Given the description of an element on the screen output the (x, y) to click on. 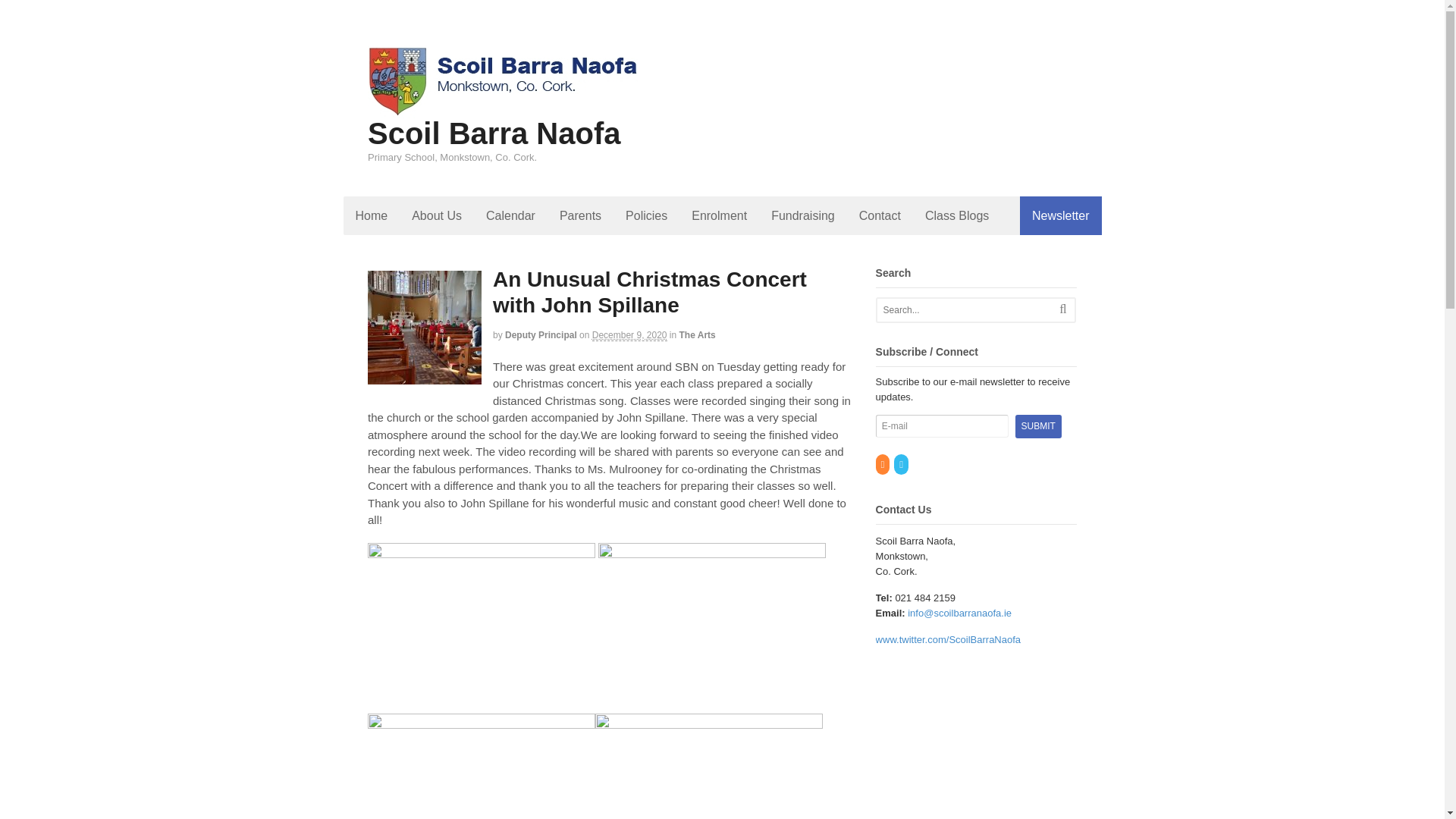
Home (370, 215)
Calendar (510, 215)
Primary School,  Monkstown, Co. Cork. (502, 110)
Class Blogs (956, 215)
Search... (967, 309)
Posts by Deputy Principal (540, 335)
View all items in The Arts (697, 335)
Scoil Barra Naofa (494, 133)
RSS (883, 464)
Submit (1037, 426)
